Given the description of an element on the screen output the (x, y) to click on. 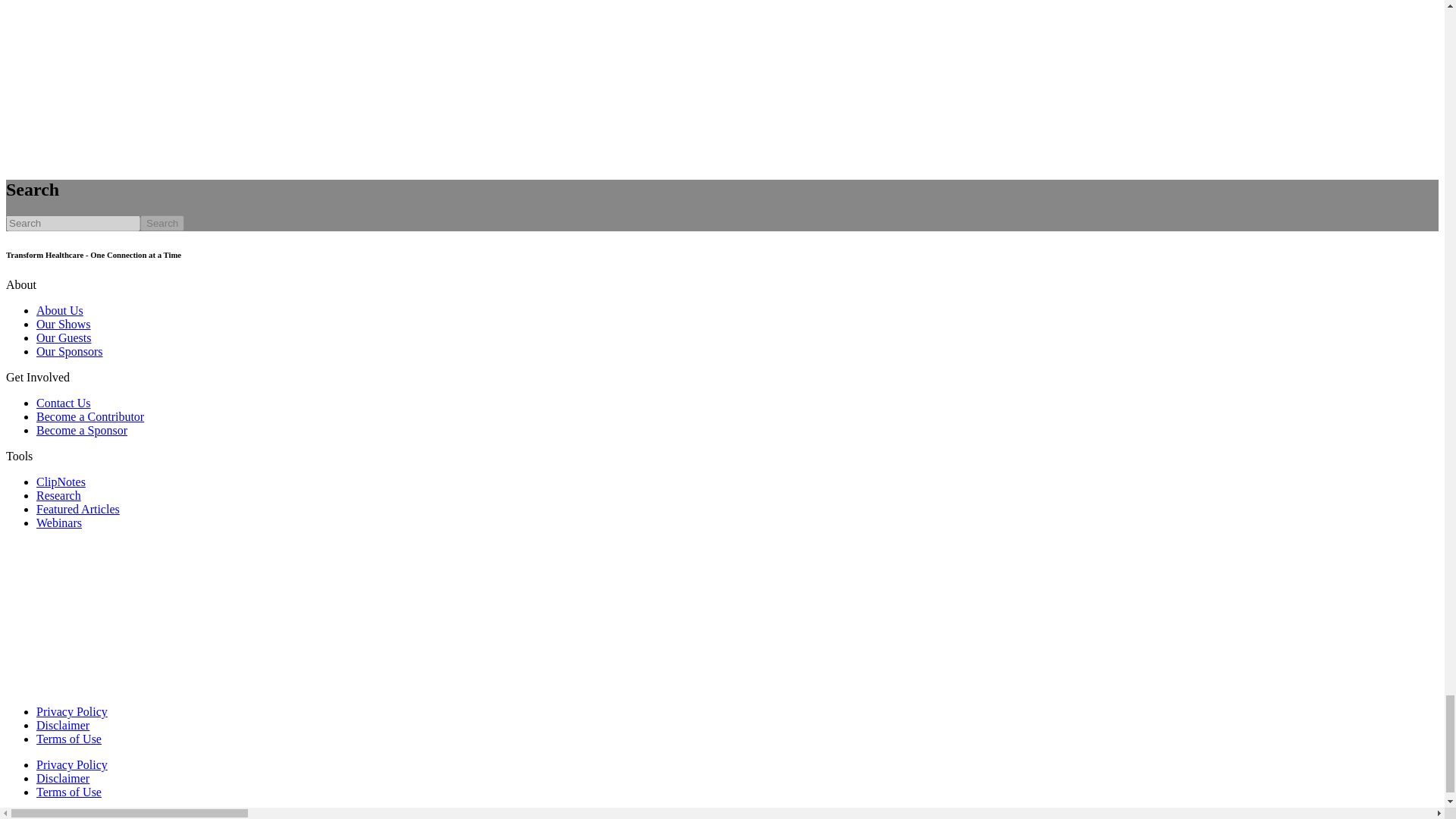
Our Guests (63, 337)
Featured Articles (77, 508)
Become a Sponsor (82, 430)
Search (161, 222)
Research (58, 495)
Contact Us (63, 402)
ClipNotes (60, 481)
Our Sponsors (69, 350)
Our Shows (63, 323)
About Us (59, 309)
Become a Contributor (90, 416)
